Given the description of an element on the screen output the (x, y) to click on. 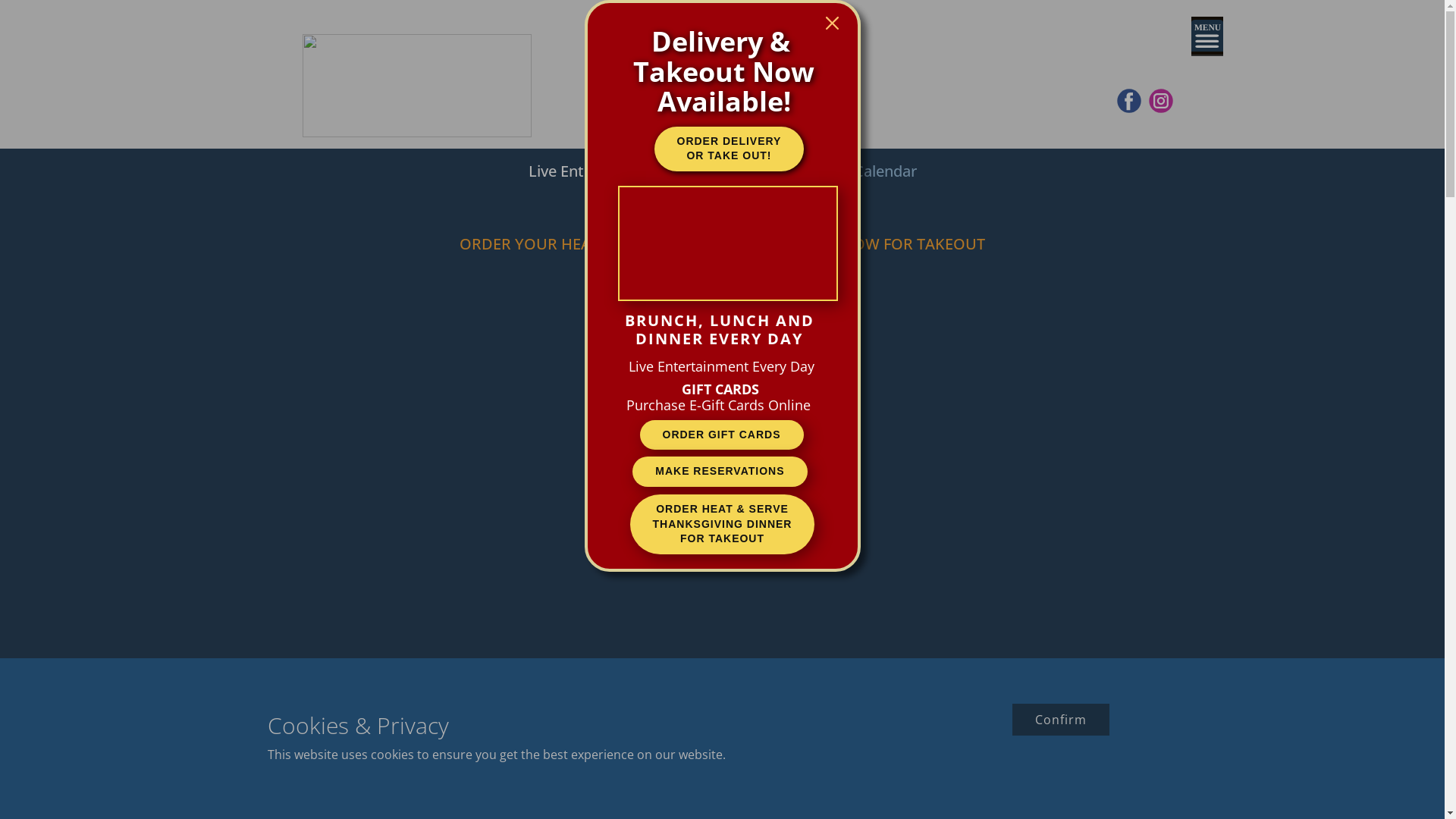
ORDER YOUR HEAT & SERVE THANKSGIVING DINNER NOW FOR TAKEOUT Element type: text (721, 243)
ORDER GIFT CARDS Element type: text (721, 435)
239-790-5RUM(5786) Element type: text (718, 188)
See Event Calendar Element type: text (848, 170)
MAKE RESERVATIONS Element type: text (719, 471)
ORDER HEAT & SERVE
THANKSGIVING DINNER
FOR TAKEOUT Element type: text (722, 524)
Order Takeout or Delivery Online Element type: text (742, 207)
Reservations Element type: text (743, 225)
Confirm Element type: text (1059, 719)
facebook Element type: hover (1128, 100)
instagram Element type: hover (1160, 100)
ORDER DELIVERY
OR TAKE OUT! Element type: text (728, 148)
